Given the description of an element on the screen output the (x, y) to click on. 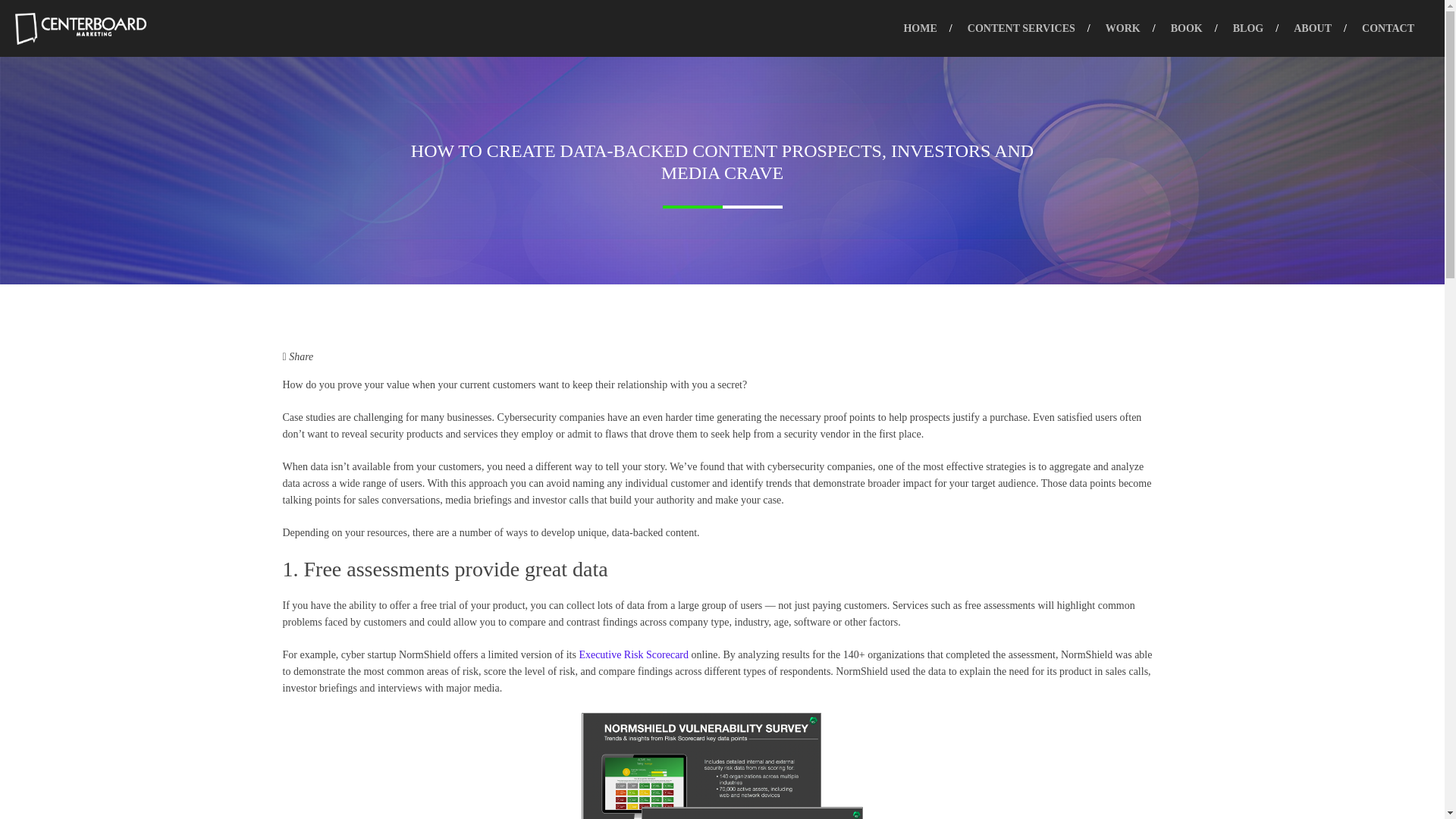
Share (297, 356)
BLOG (1247, 28)
HOME (920, 28)
Executive Risk Scorecard (633, 654)
WORK (1123, 28)
BOOK (1186, 28)
ABOUT (1312, 28)
CONTENT SERVICES (1021, 28)
CONTACT (1387, 28)
